Given the description of an element on the screen output the (x, y) to click on. 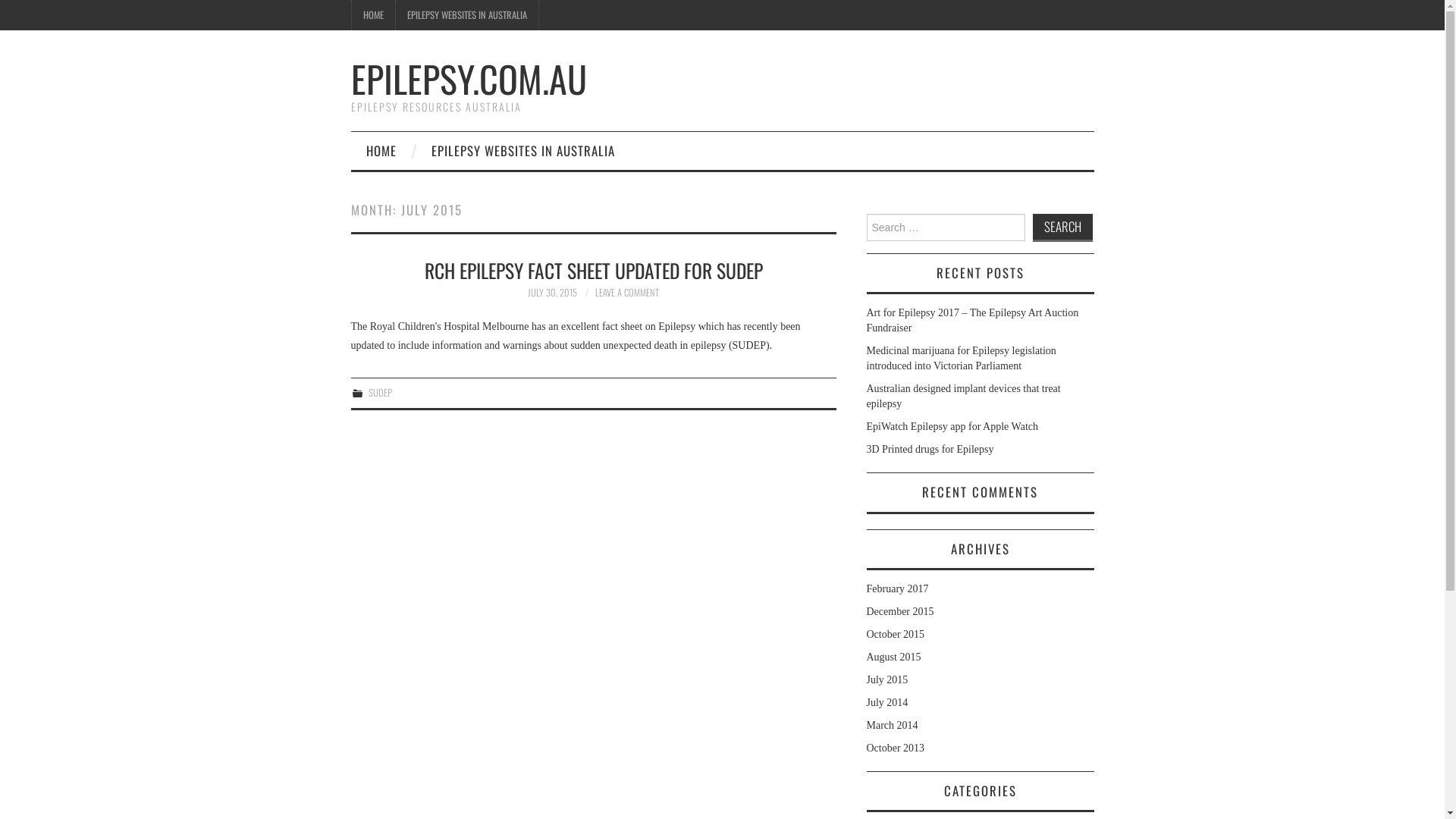
LEAVE A COMMENT Element type: text (626, 292)
Australian designed implant devices that treat epilepsy Element type: text (963, 395)
EPILEPSY WEBSITES IN AUSTRALIA Element type: text (466, 15)
February 2017 Element type: text (897, 588)
October 2015 Element type: text (895, 634)
Search Element type: text (1062, 227)
March 2014 Element type: text (891, 725)
July 2014 Element type: text (886, 702)
3D Printed drugs for Epilepsy Element type: text (929, 449)
October 2013 Element type: text (895, 747)
Search for: Element type: hover (945, 227)
December 2015 Element type: text (899, 611)
EPILEPSY WEBSITES IN AUSTRALIA Element type: text (522, 150)
SUDEP Element type: text (380, 392)
HOME Element type: text (373, 15)
EpiWatch Epilepsy app for Apple Watch Element type: text (951, 426)
JULY 30, 2015 Element type: text (552, 292)
EPILEPSY.COM.AU Element type: text (468, 78)
HOME Element type: text (380, 150)
RCH EPILEPSY FACT SHEET UPDATED FOR SUDEP Element type: text (593, 269)
August 2015 Element type: text (893, 656)
July 2015 Element type: text (886, 679)
